Given the description of an element on the screen output the (x, y) to click on. 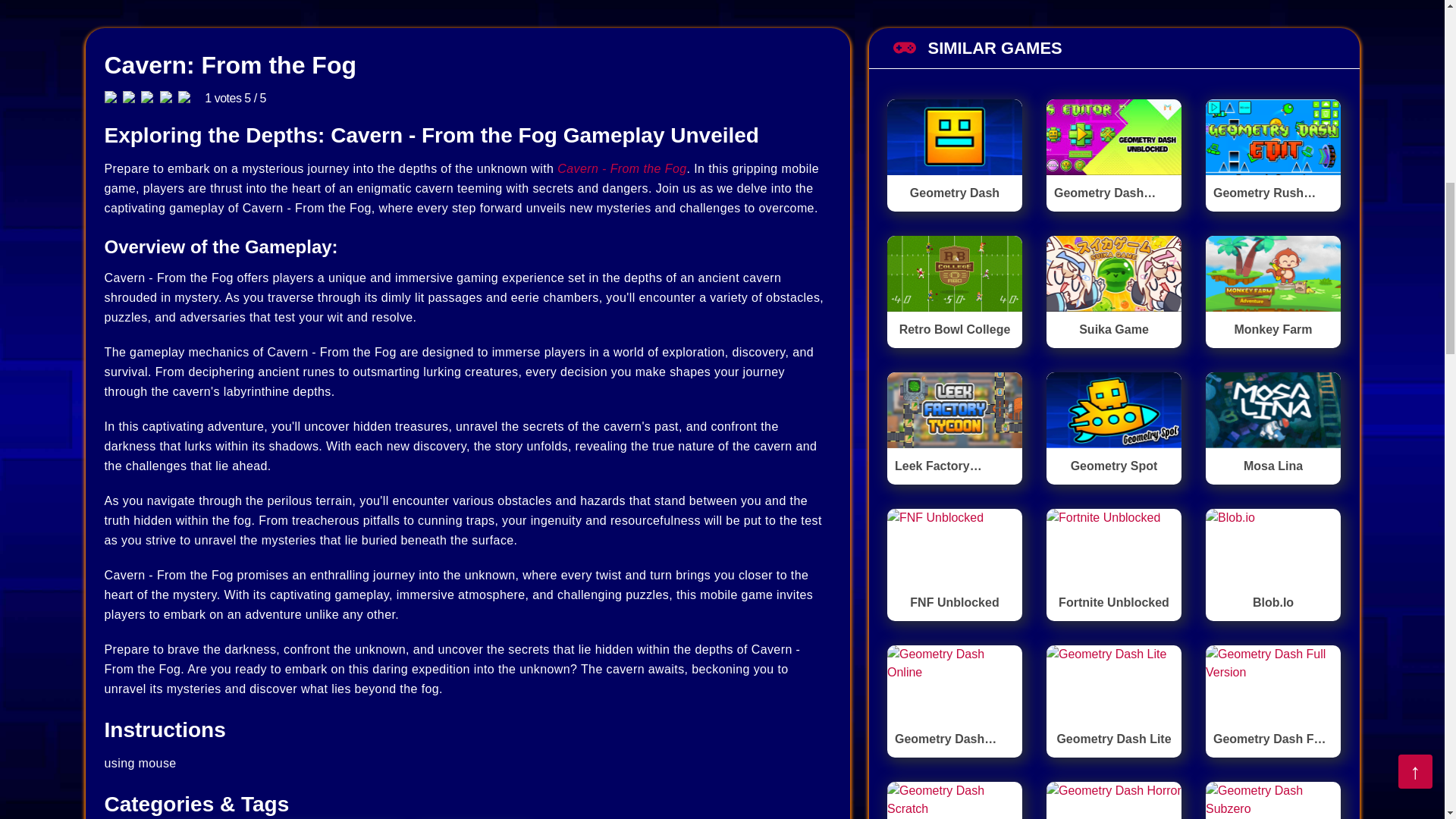
Suika Game (1113, 291)
Geometry Rush With Level Editor (1272, 154)
Geometry Dash Unblocked (1113, 154)
Geometry Spot (1113, 427)
Monkey Farm (1272, 291)
Geometry Dash (954, 154)
Mosa Lina (1272, 427)
Retro Bowl College (954, 291)
Leek Factory Tycoon (954, 427)
Cavern - From the Fog (621, 168)
